Given the description of an element on the screen output the (x, y) to click on. 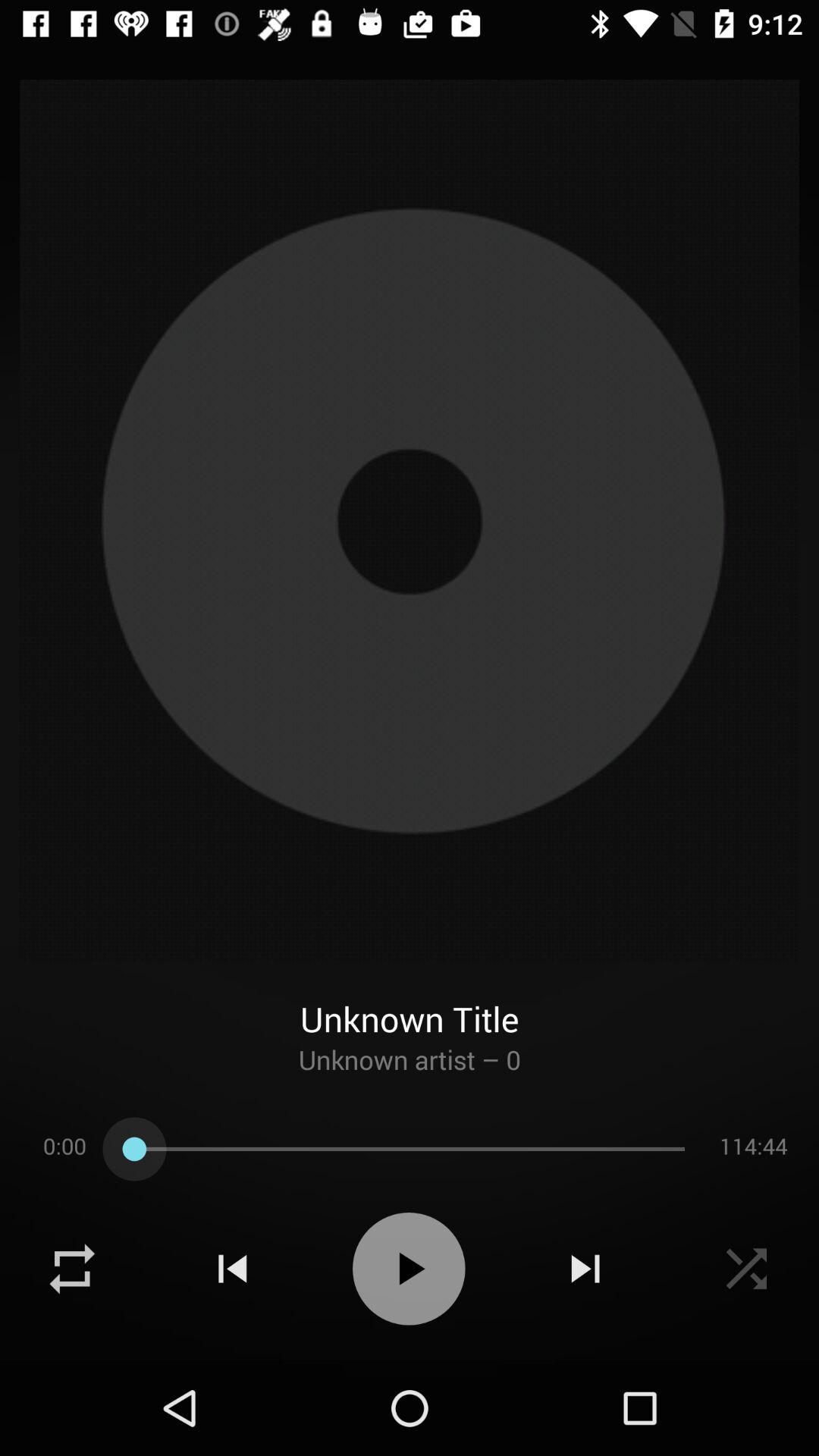
rewind (232, 1268)
